Given the description of an element on the screen output the (x, y) to click on. 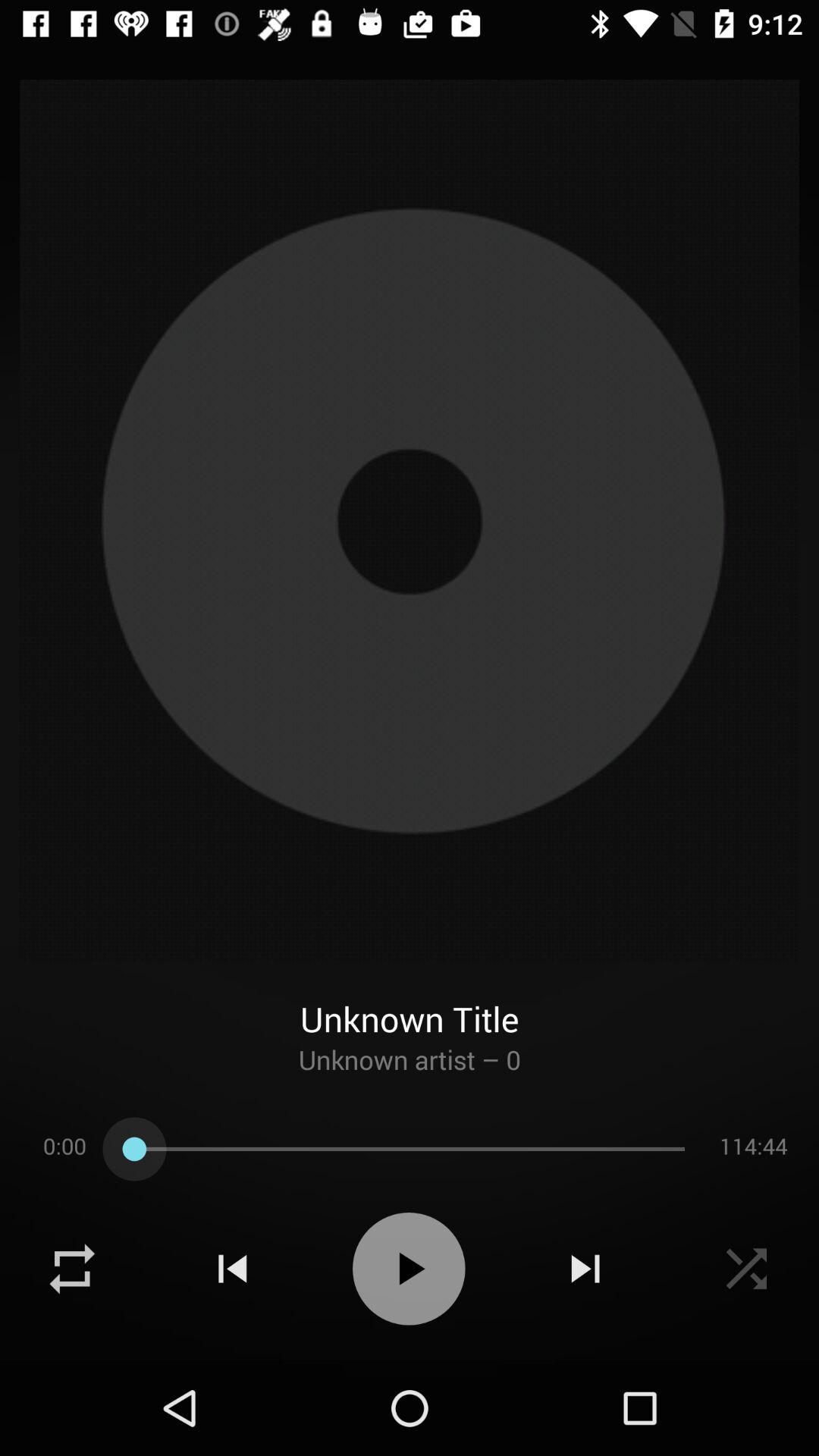
rewind (232, 1268)
